Given the description of an element on the screen output the (x, y) to click on. 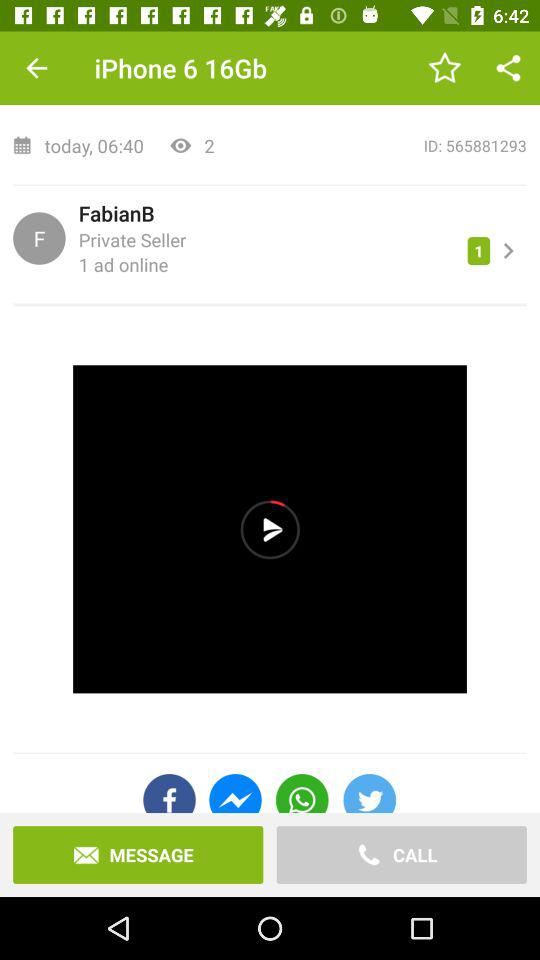
scroll until the id: 565881293 item (377, 145)
